Given the description of an element on the screen output the (x, y) to click on. 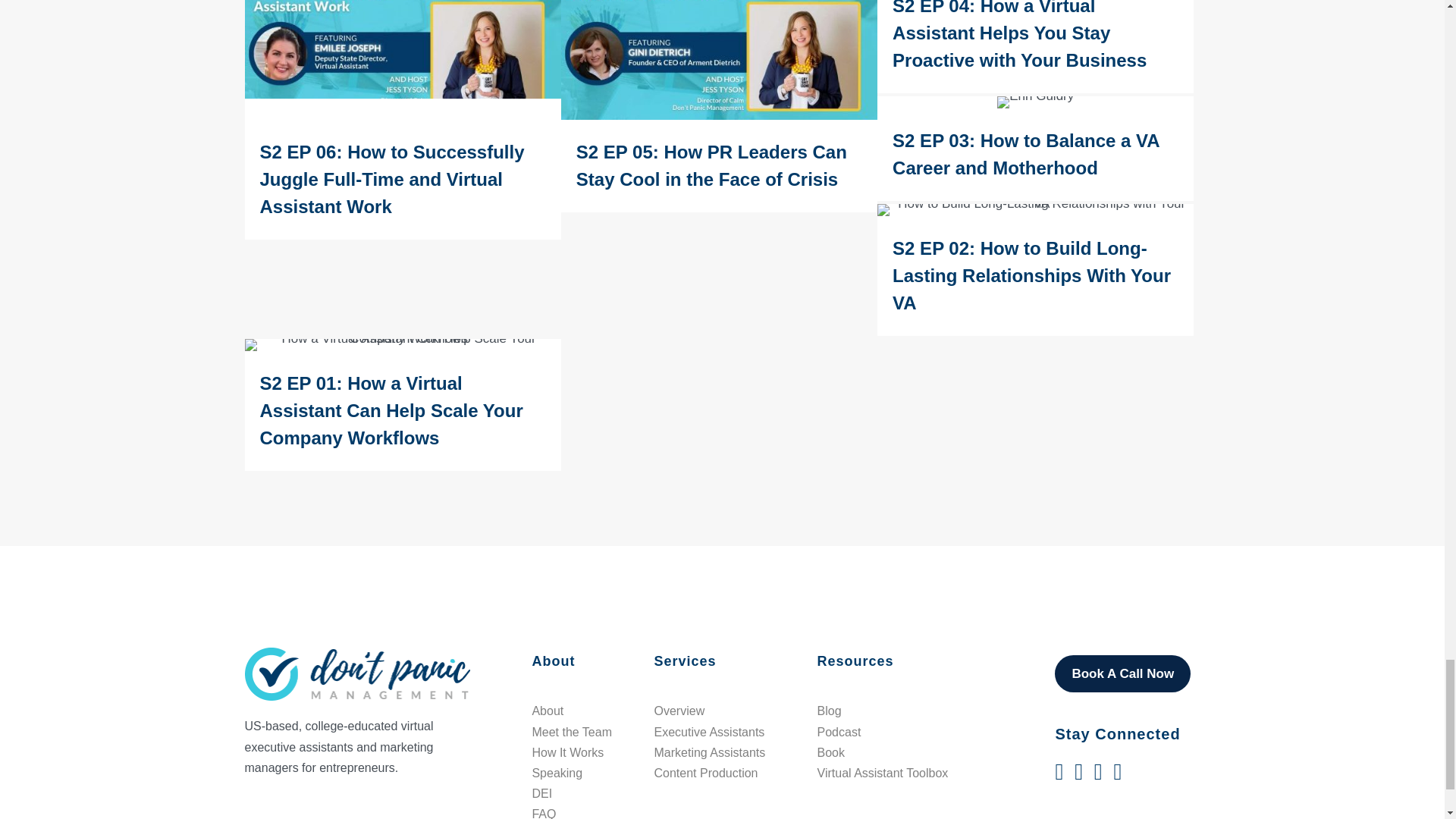
S2 EP 05: How PR Leaders Can Stay Cool in the Face of Crisis (718, 106)
Emilee Joseph Rectangle (402, 59)
Gini Dietrich Rectangle (718, 59)
S2 EP 03: How to Balance a VA Career and Motherhood (1035, 148)
How to Build Long-Lasting Relationships with Your VA (1035, 209)
